Given the description of an element on the screen output the (x, y) to click on. 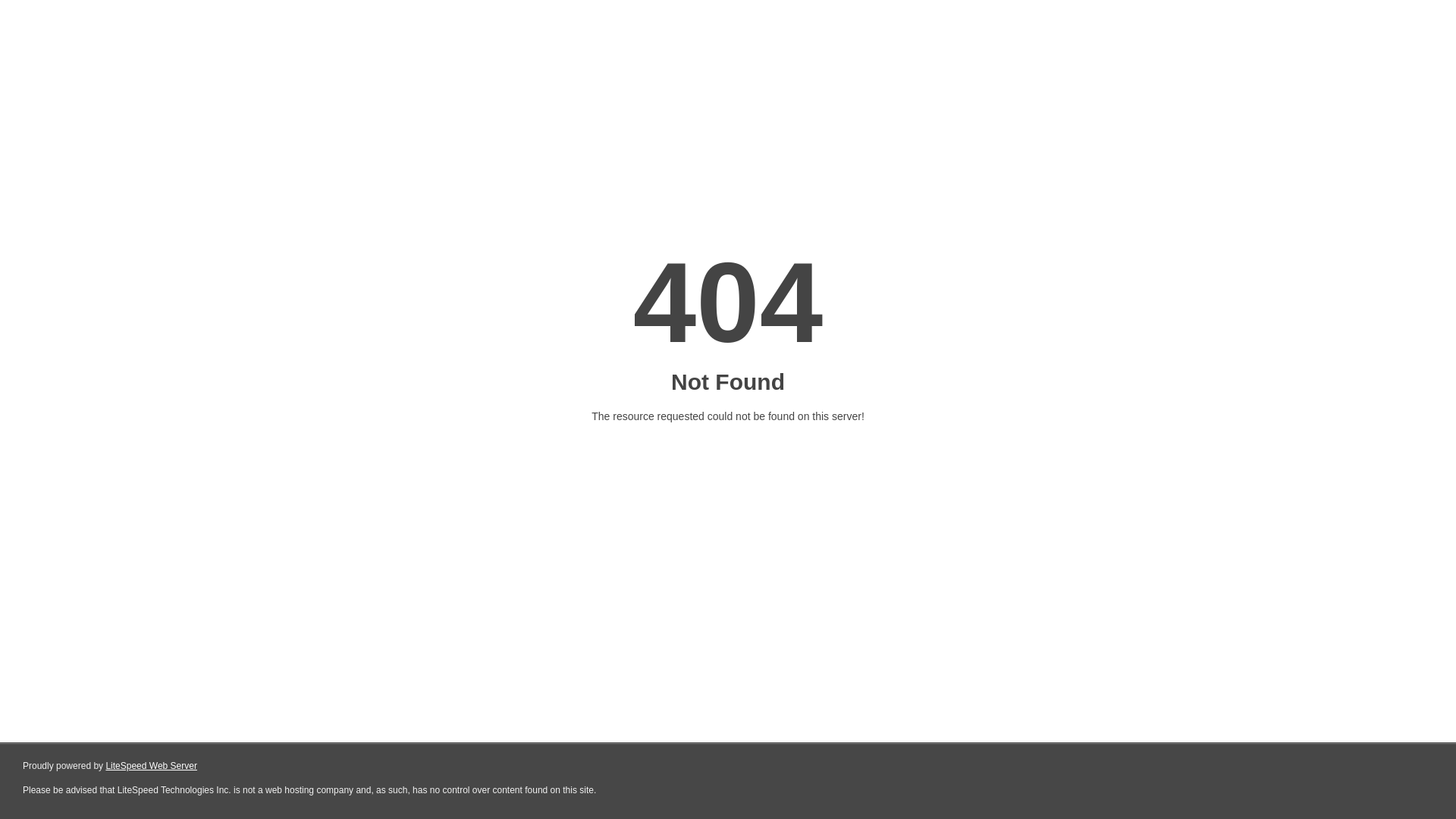
LiteSpeed Web Server Element type: text (151, 765)
